Given the description of an element on the screen output the (x, y) to click on. 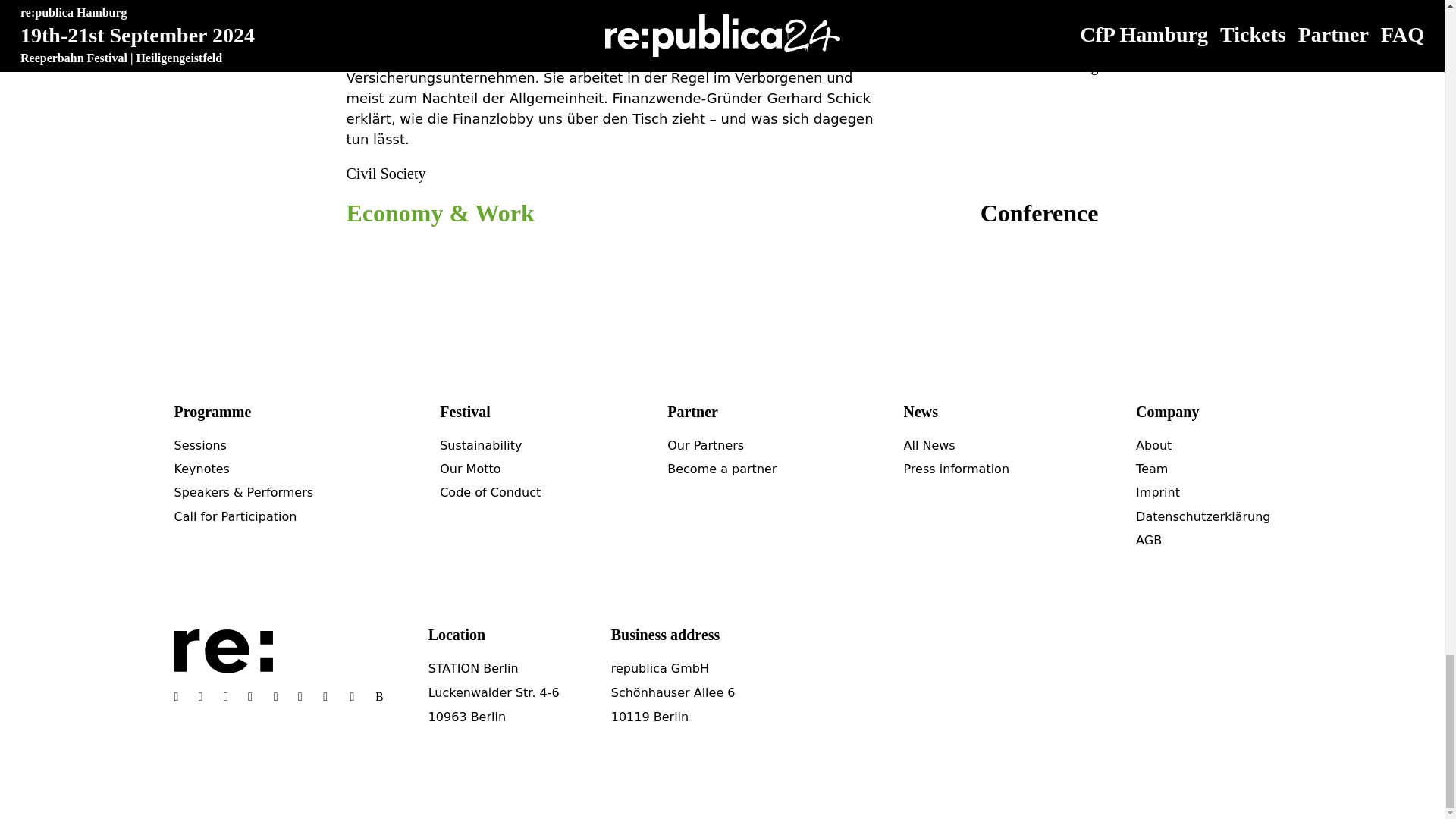
Keynotes (202, 468)
Code of Conduct (489, 492)
About (1153, 445)
AGB (1148, 540)
Team (1151, 468)
Sessions (200, 445)
Press information (955, 468)
All News (928, 445)
Sustainability (480, 445)
Gerhard Schick (403, 21)
Our Partners (705, 445)
Imprint (1157, 492)
Become a partner (721, 468)
Call for Participation (235, 516)
Our Motto (469, 468)
